Given the description of an element on the screen output the (x, y) to click on. 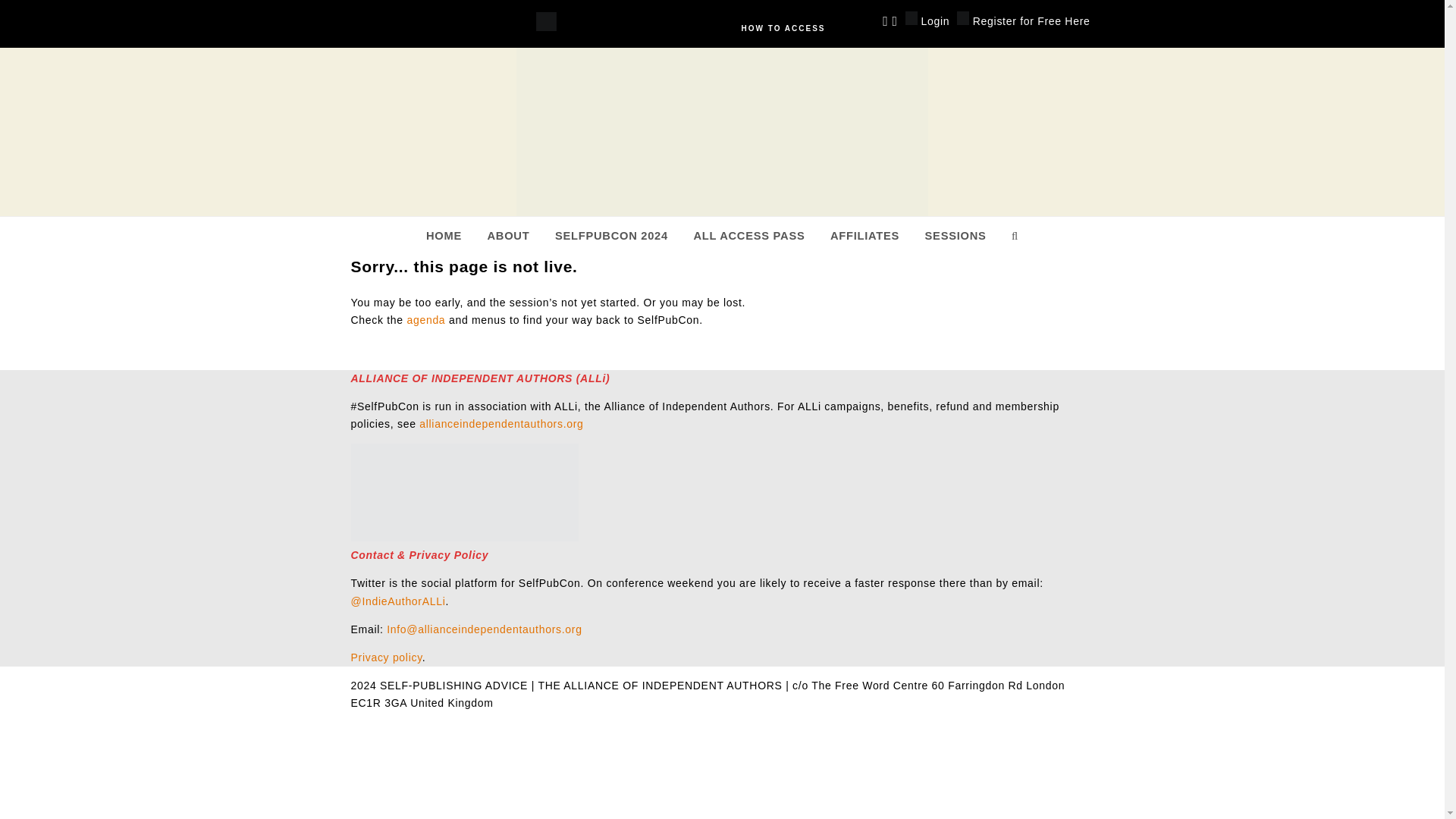
Register for Free Here (1022, 20)
agenda (425, 319)
HOW TO ACCESS (783, 28)
allianceindependentauthors.org (501, 423)
Log in (927, 20)
Register for Free Here (1022, 20)
SELFPUBCON 2024 (610, 235)
ABOUT (507, 235)
SESSIONS (955, 235)
AFFILIATES (864, 235)
